Given the description of an element on the screen output the (x, y) to click on. 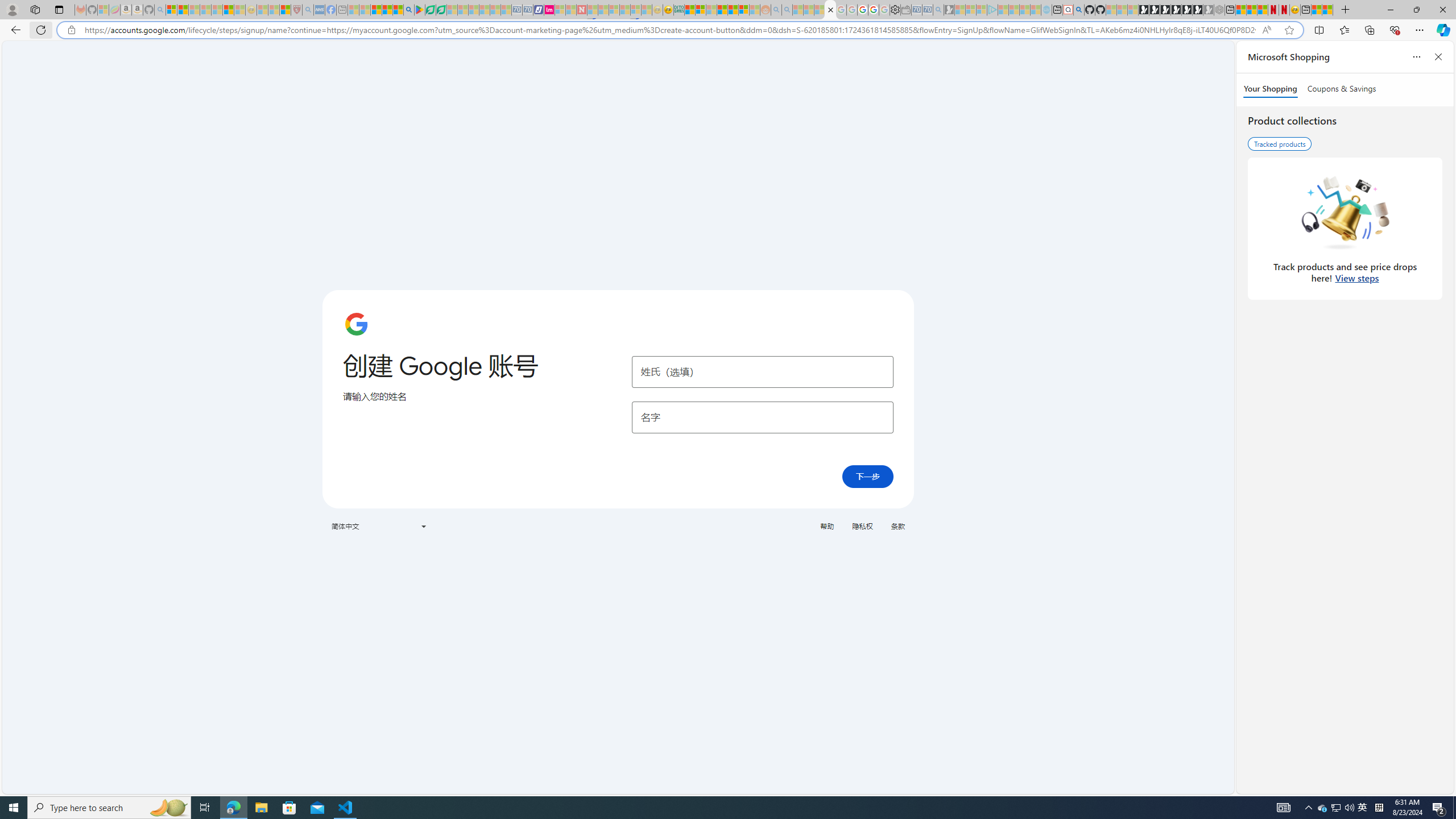
github - Search (1078, 9)
Bluey: Let's Play! - Apps on Google Play (419, 9)
Cheap Hotels - Save70.com - Sleeping (527, 9)
Wildlife - MSN (1316, 9)
Play Free Online Games | Games from Microsoft Start (1144, 9)
